Given the description of an element on the screen output the (x, y) to click on. 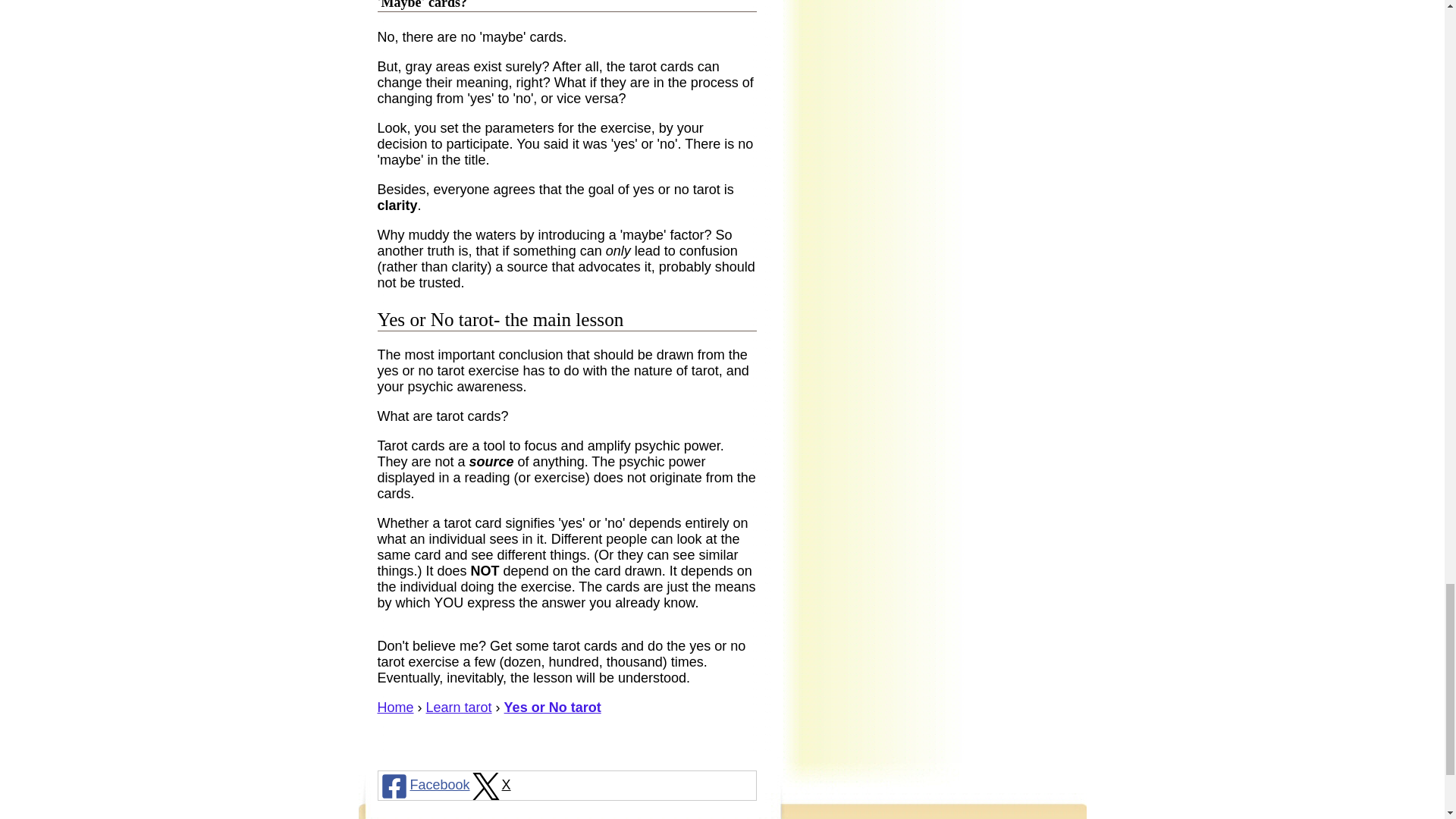
Facebook (422, 785)
Yes or No tarot (552, 707)
Home (395, 707)
X (490, 785)
Learn tarot (459, 707)
